Given the description of an element on the screen output the (x, y) to click on. 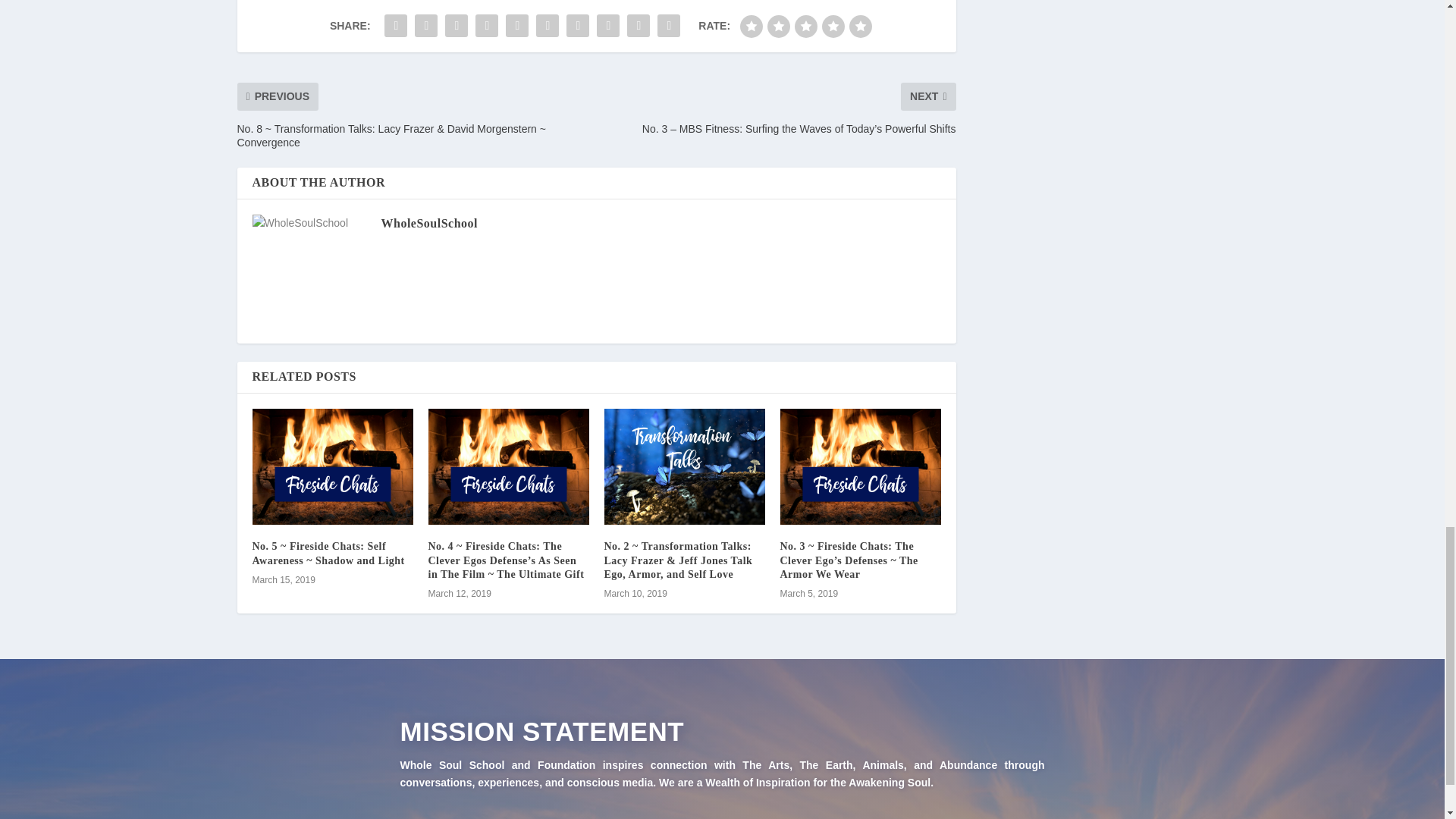
bad (750, 26)
